Given the description of an element on the screen output the (x, y) to click on. 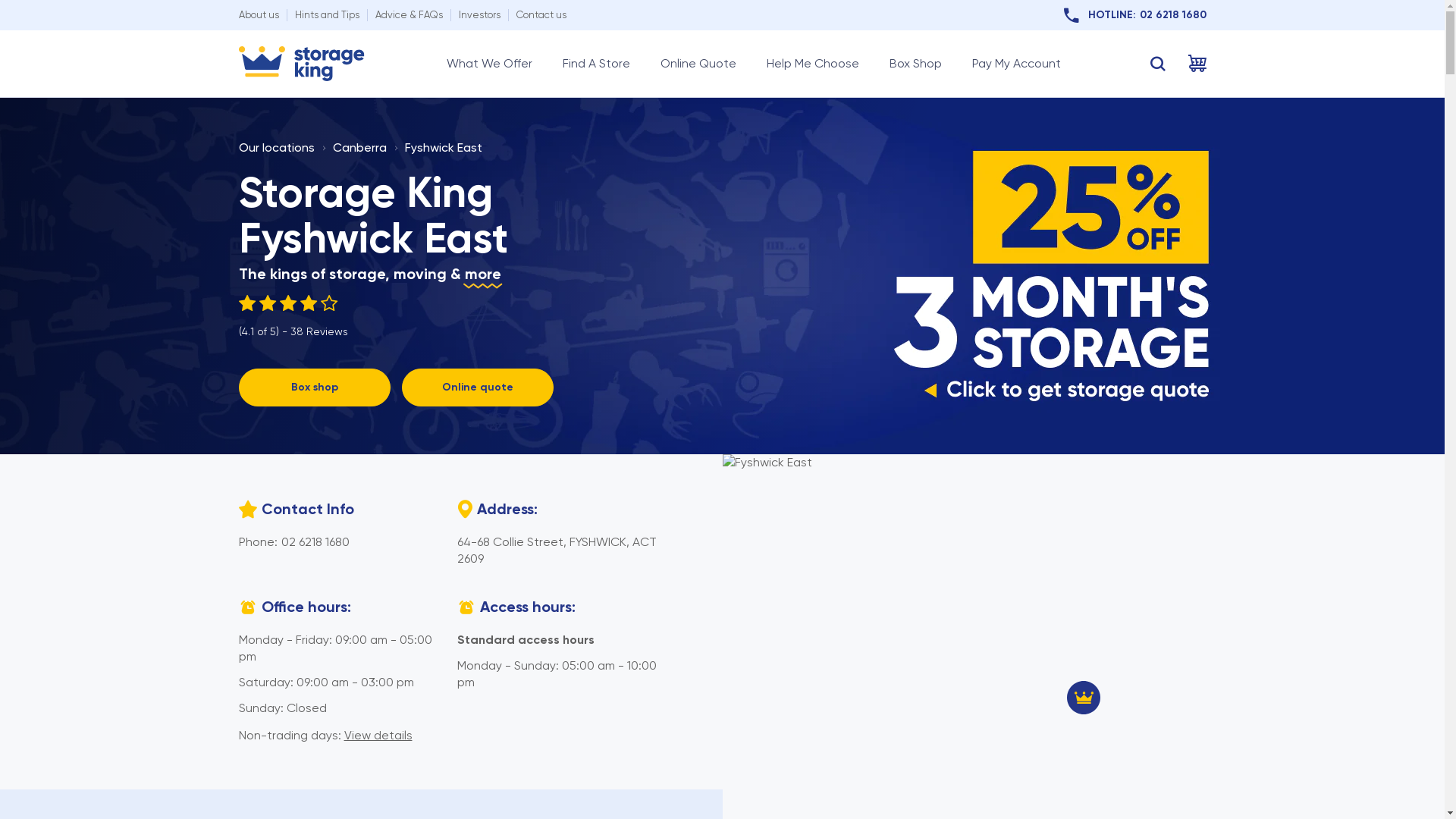
Pay My Account Element type: text (1016, 63)
Advice & FAQs Element type: text (408, 15)
Box shop Element type: text (313, 387)
4.10 Element type: hover (292, 303)
View details Element type: text (378, 735)
(4.1 of 5) - 38 Reviews Element type: text (292, 316)
Online quote Element type: text (477, 387)
Contact us Element type: text (540, 15)
Box Shop Element type: text (914, 63)
What We Offer Element type: text (488, 63)
About us Element type: text (258, 15)
Canberra Element type: text (358, 147)
Online Quote Element type: text (697, 63)
Fyshwick East Element type: text (443, 147)
Help Me Choose Element type: text (811, 63)
HOTLINE:
02 6218 1680 Element type: text (1134, 14)
Find A Store Element type: text (596, 63)
64-68 Collie Street, FYSHWICK, ACT 2609 Element type: text (555, 549)
Our locations Element type: text (275, 147)
02 6218 1680 Element type: text (314, 541)
Hints and Tips Element type: text (326, 15)
Investors Element type: text (478, 15)
